Given the description of an element on the screen output the (x, y) to click on. 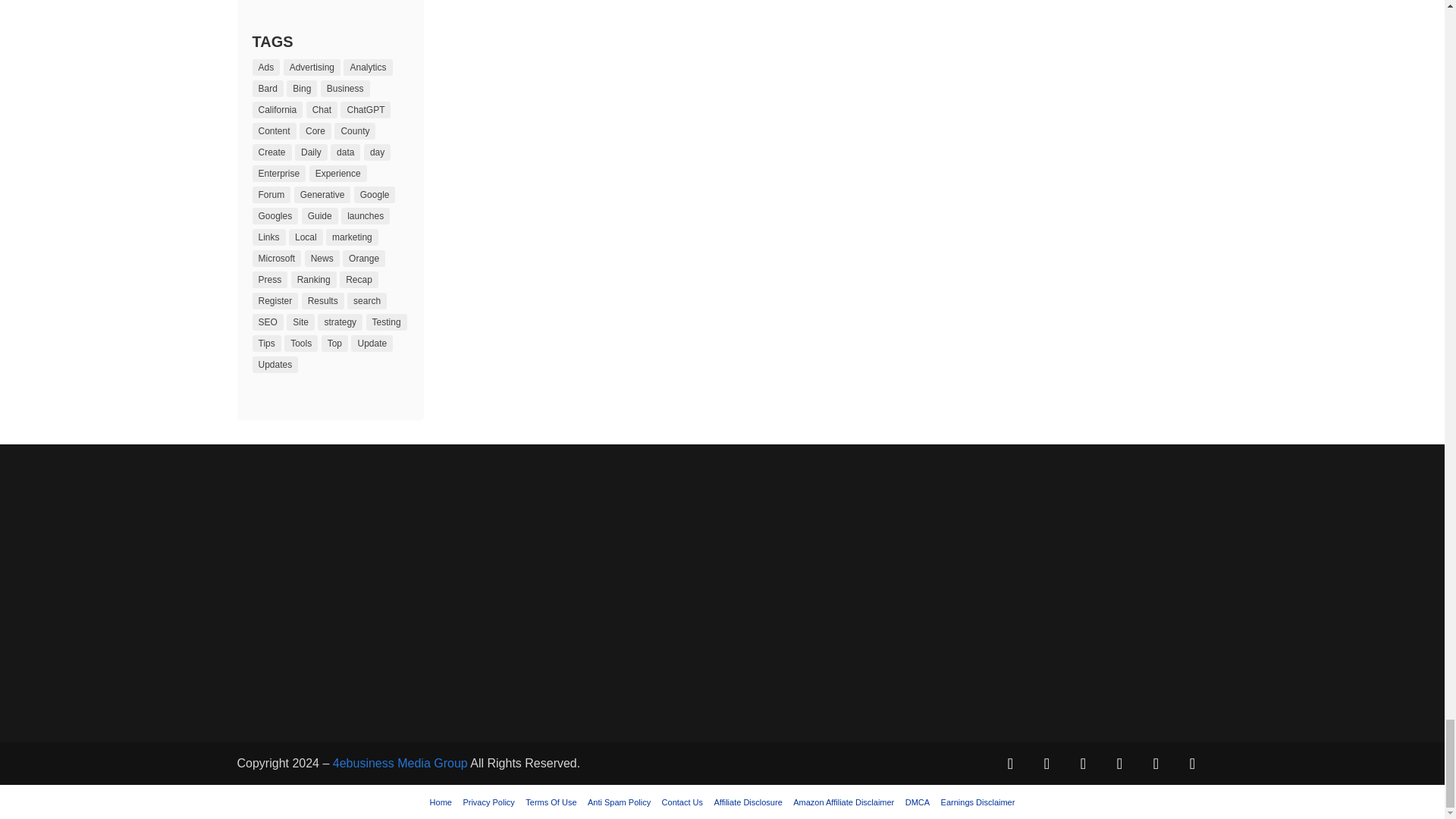
Follow on Youtube (1155, 763)
Follow on RSS (1191, 763)
Follow on Pinterest (1082, 763)
Follow on Facebook (1009, 763)
Follow on X (1045, 763)
Follow on LinkedIn (1118, 763)
